Given the description of an element on the screen output the (x, y) to click on. 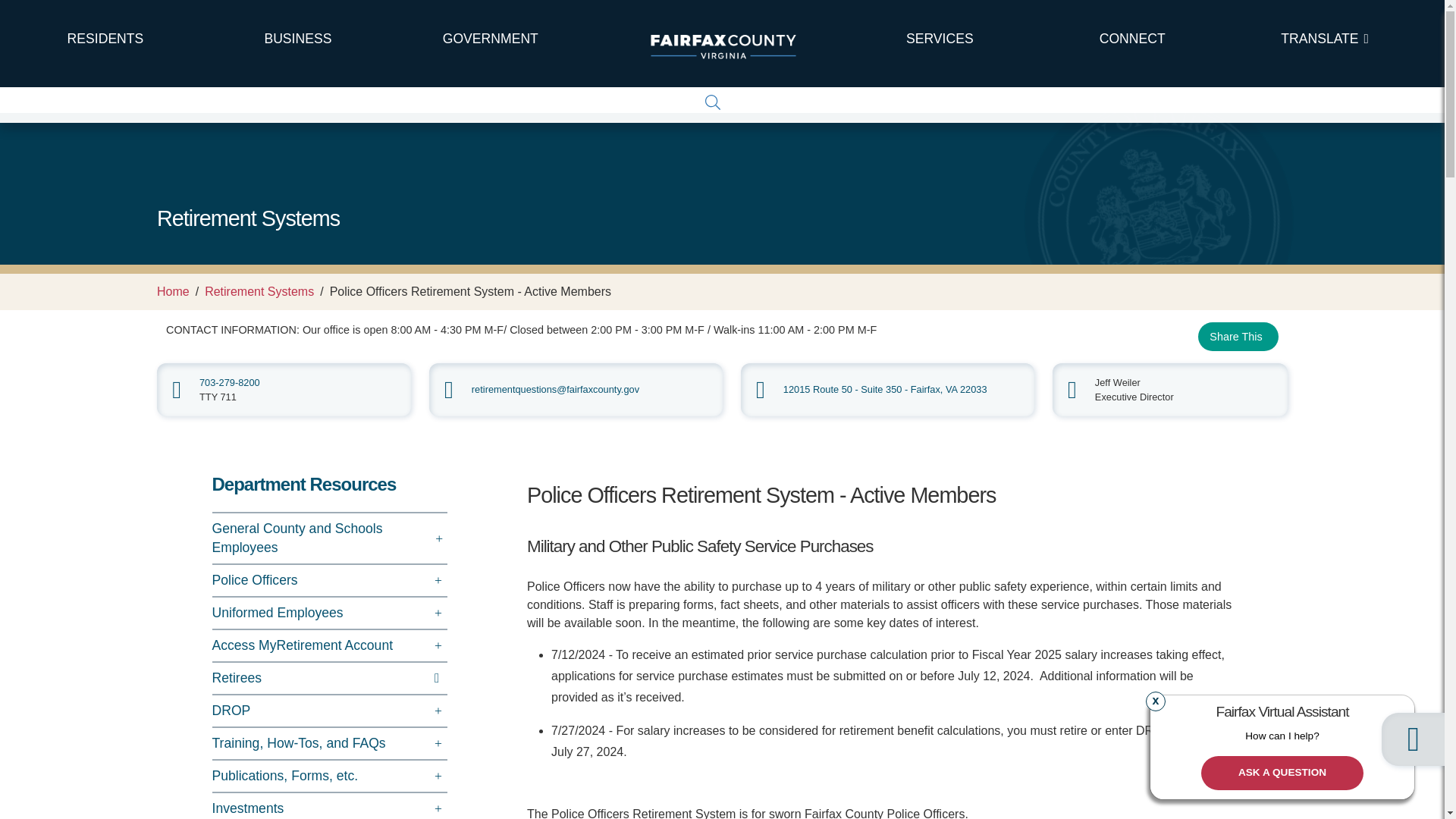
Business (298, 38)
Residents (105, 38)
Services (939, 38)
Government (490, 38)
Connect (1131, 38)
TRANSLATE (1324, 38)
